Given the description of an element on the screen output the (x, y) to click on. 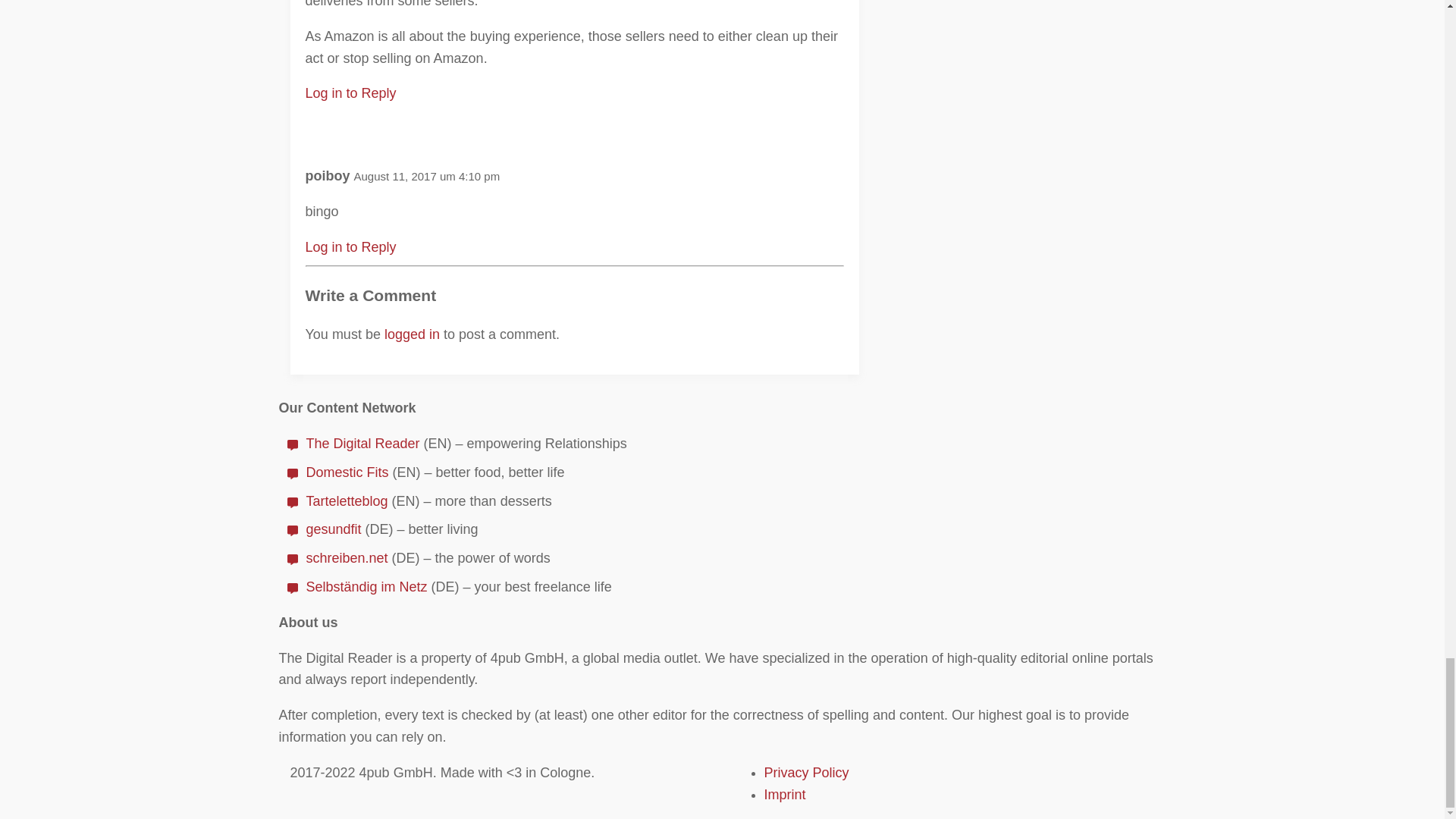
logged in (411, 334)
Log in to Reply (350, 92)
Log in to Reply (350, 246)
